Given the description of an element on the screen output the (x, y) to click on. 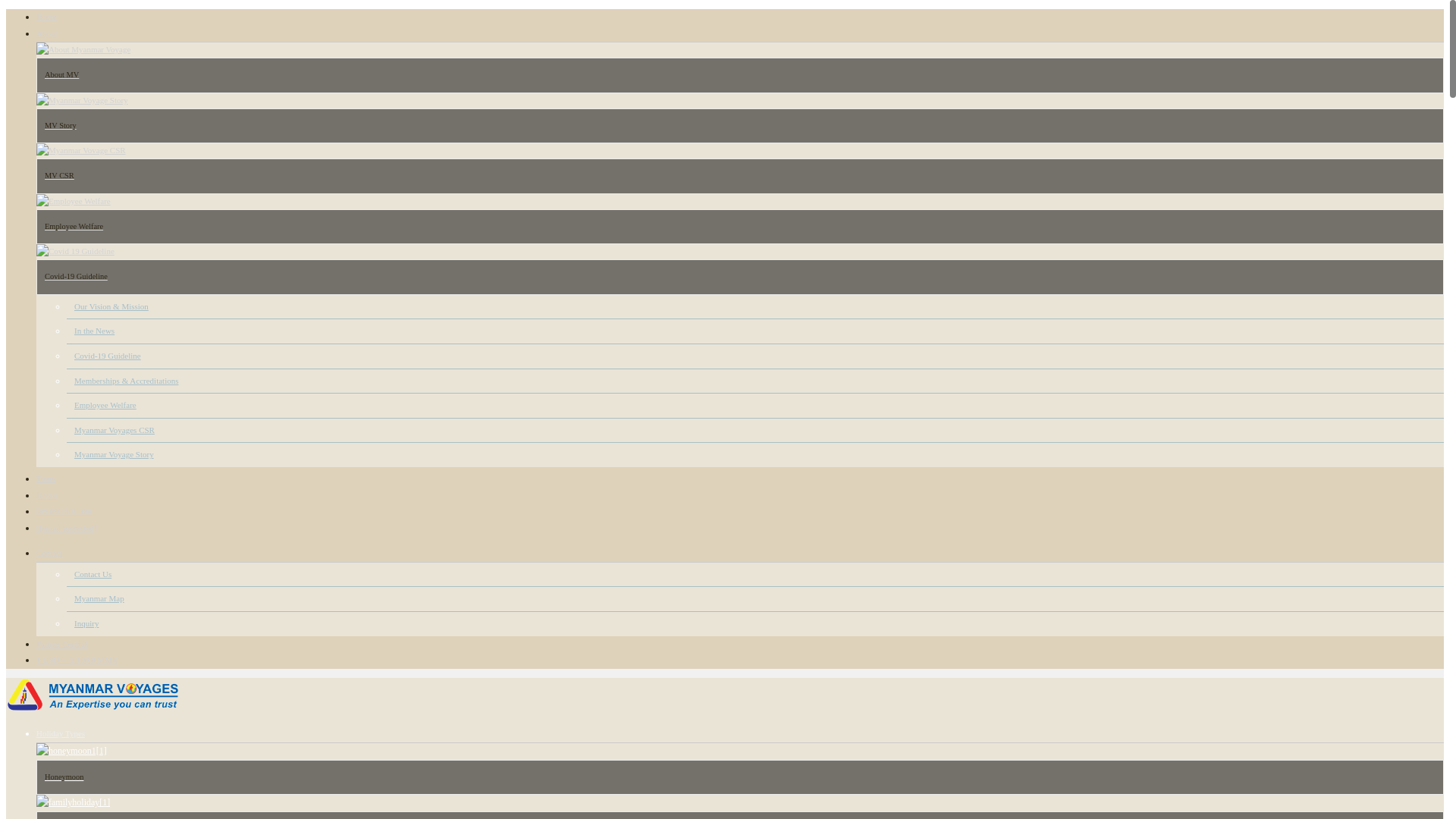
About (47, 32)
Myanmar Map (98, 597)
Contact (49, 552)
Covid-19 Guideline (107, 355)
Hotels (47, 494)
Tours (45, 478)
Holiday Types (60, 732)
Contact Us (93, 573)
Employee Welfare (105, 404)
Partner Central (61, 643)
